Given the description of an element on the screen output the (x, y) to click on. 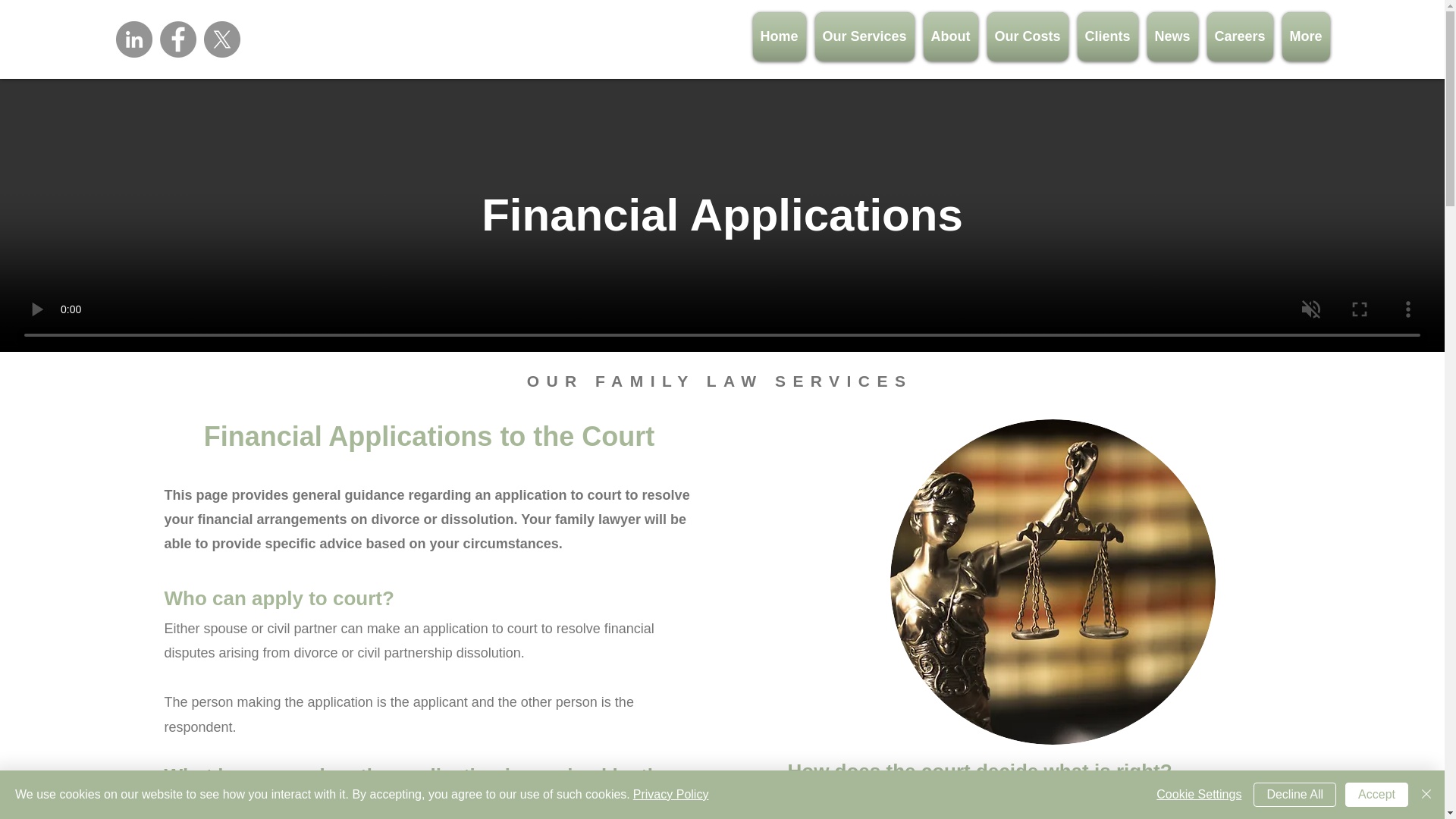
News (1171, 36)
Home (778, 36)
Careers (1240, 36)
